Given the description of an element on the screen output the (x, y) to click on. 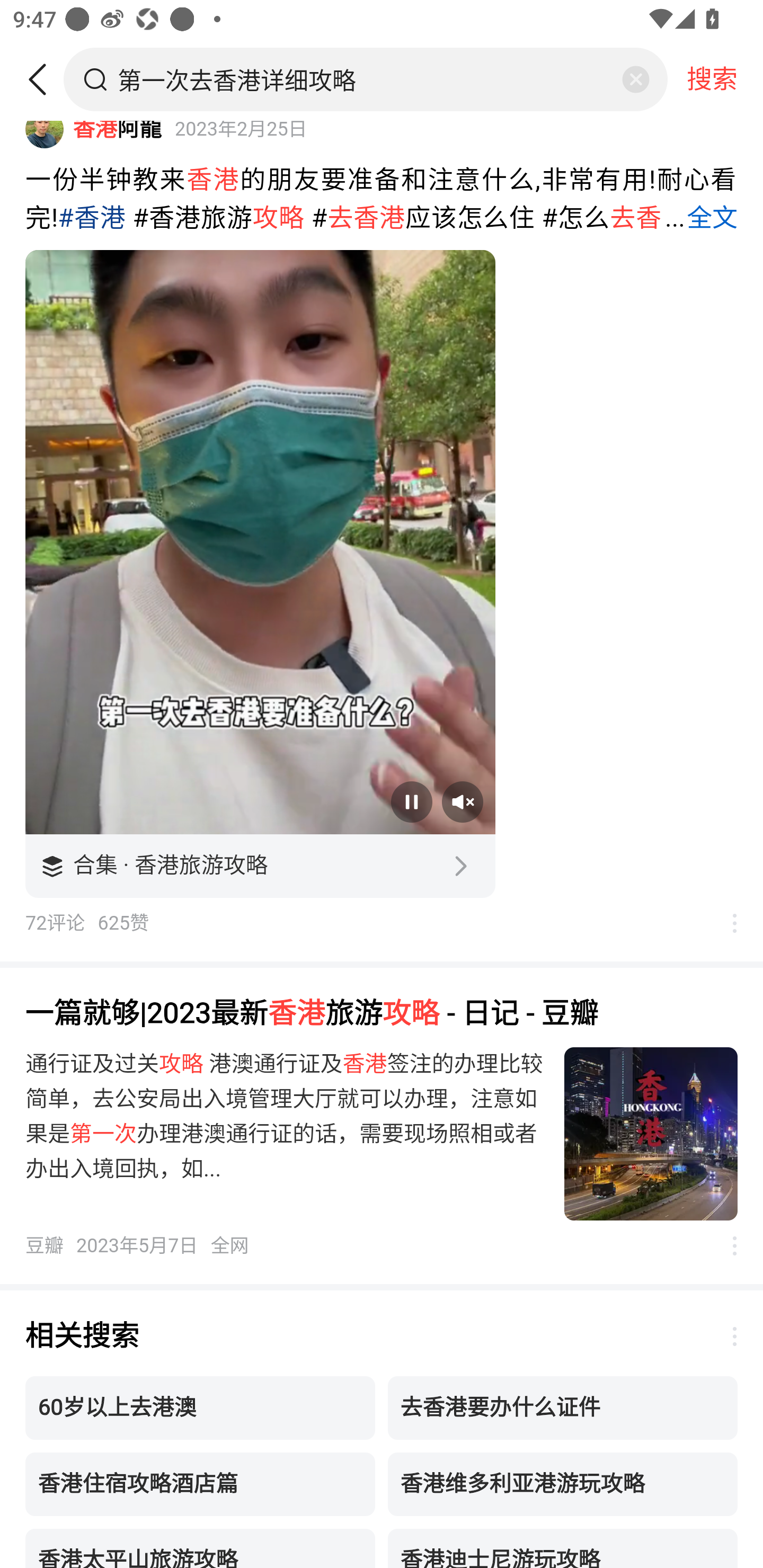
搜索框，第一次去香港详细攻略 (366, 79)
搜索 (711, 79)
返回 (44, 79)
清除 (635, 79)
取消静音 (461, 801)
